Given the description of an element on the screen output the (x, y) to click on. 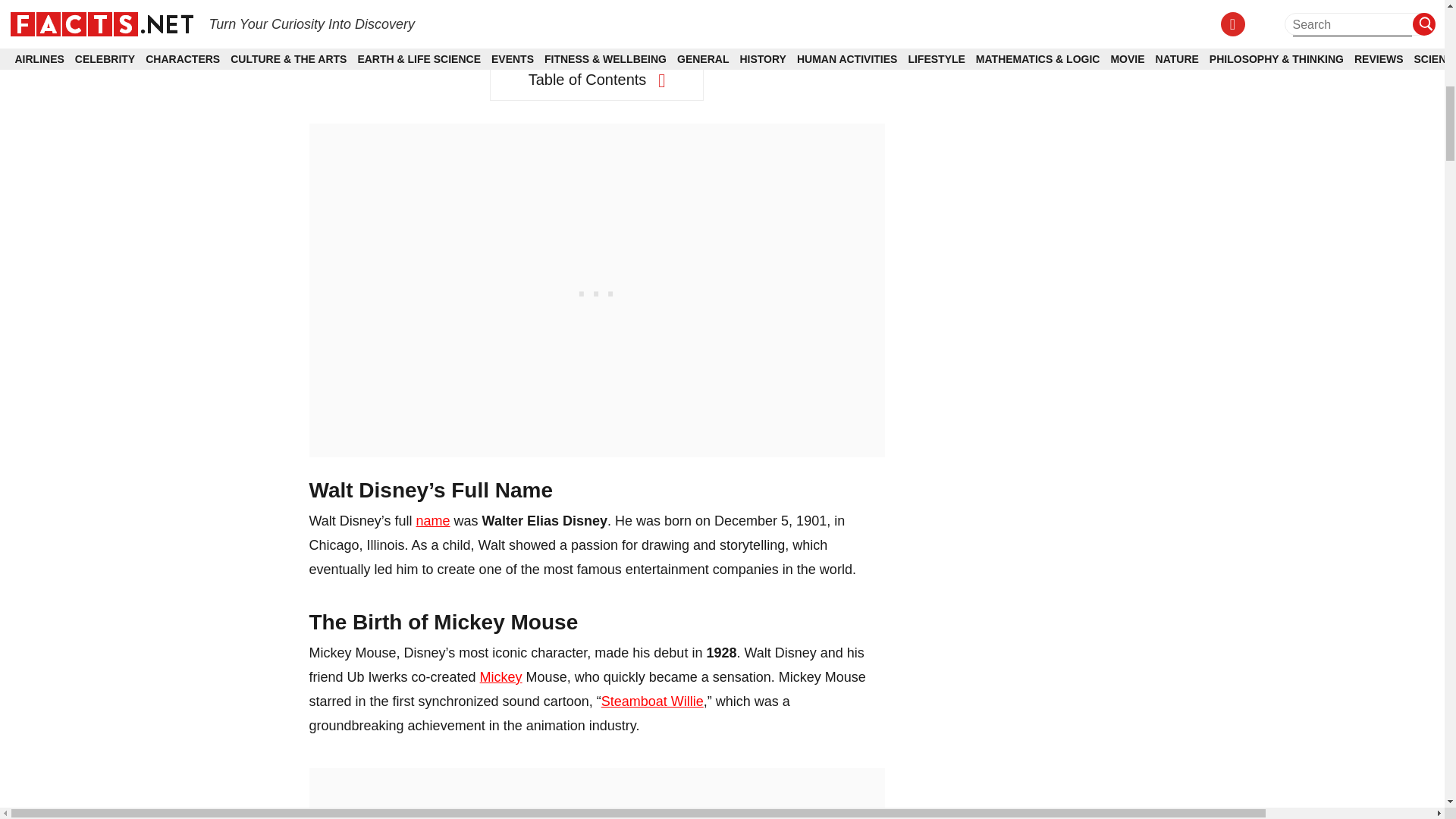
Mickey (501, 676)
Steamboat Willie (652, 701)
name (432, 520)
